Given the description of an element on the screen output the (x, y) to click on. 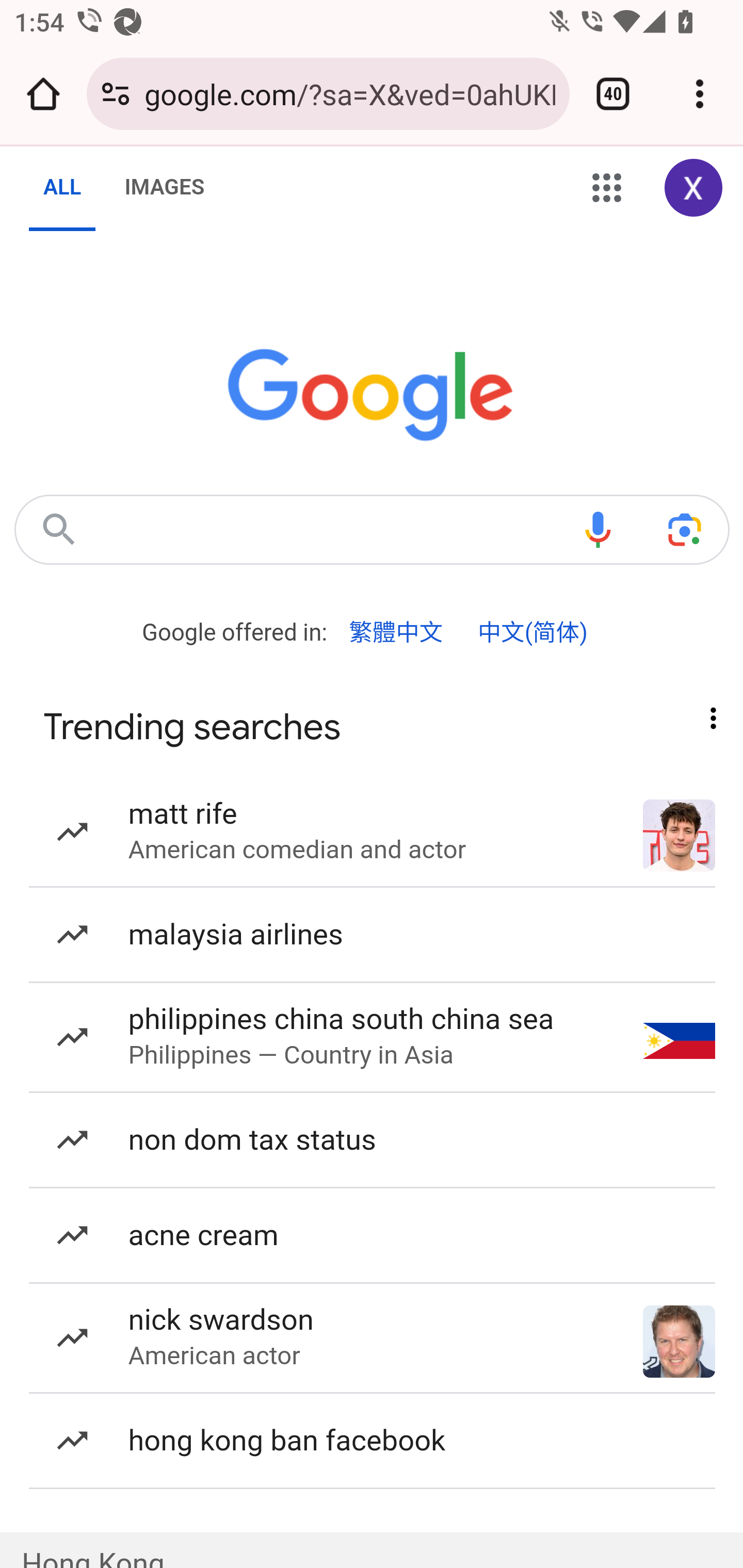
Open the home page (43, 93)
Connection is secure (115, 93)
Switch or close tabs (612, 93)
Customize and control Google Chrome (699, 93)
IMAGES (164, 188)
Google apps (607, 188)
Google Account: Xiaoran (zxrappiumtest@gmail.com) (694, 188)
Google Search (58, 528)
Search using your camera or photos (684, 528)
繁體中文 (395, 632)
中文(简体) (532, 632)
malaysia airlines (372, 934)
non dom tax status (372, 1140)
acne cream (372, 1236)
hong kong ban facebook (372, 1440)
